Given the description of an element on the screen output the (x, y) to click on. 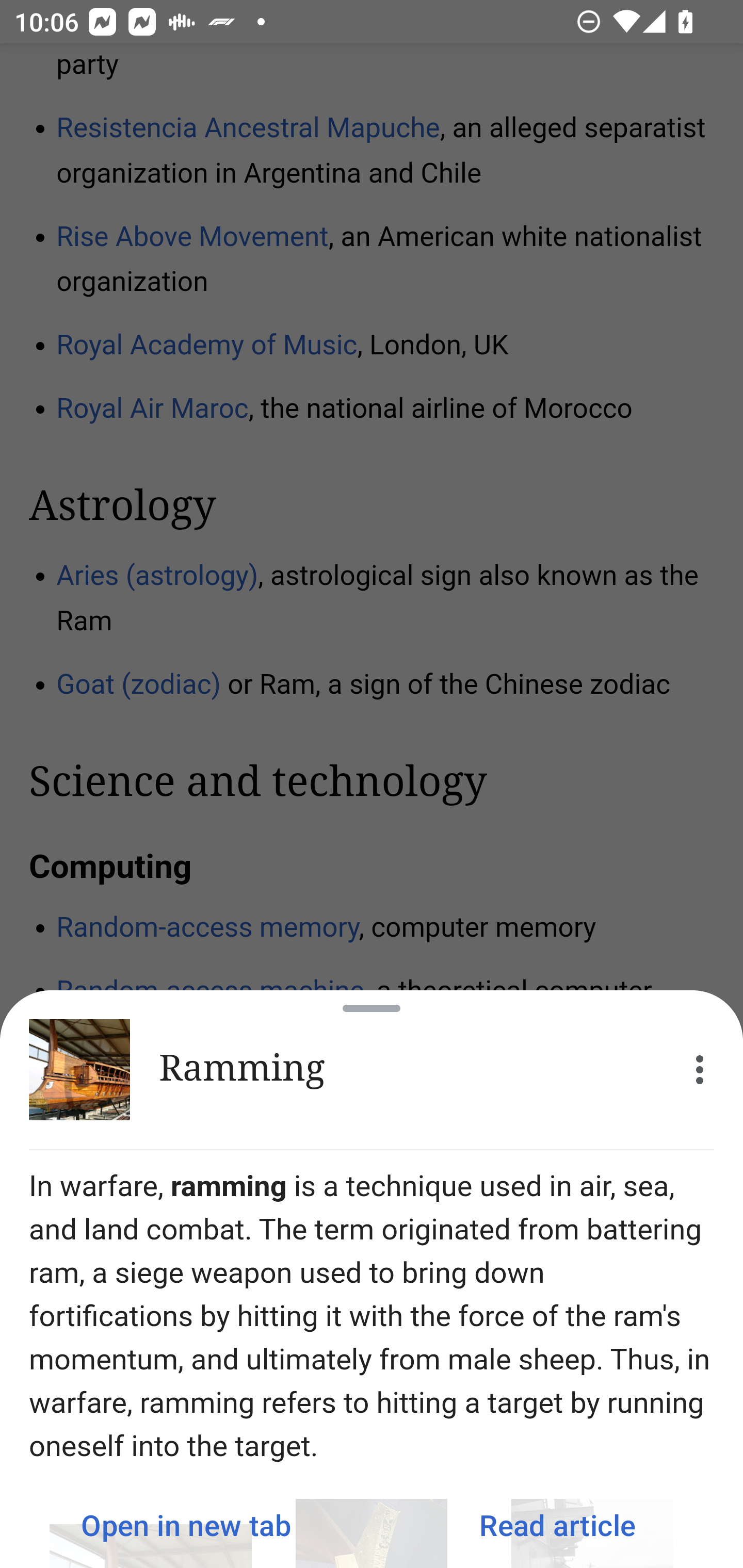
Ramming More options (371, 1069)
More options (699, 1070)
Open in new tab (185, 1524)
Read article (557, 1524)
